Given the description of an element on the screen output the (x, y) to click on. 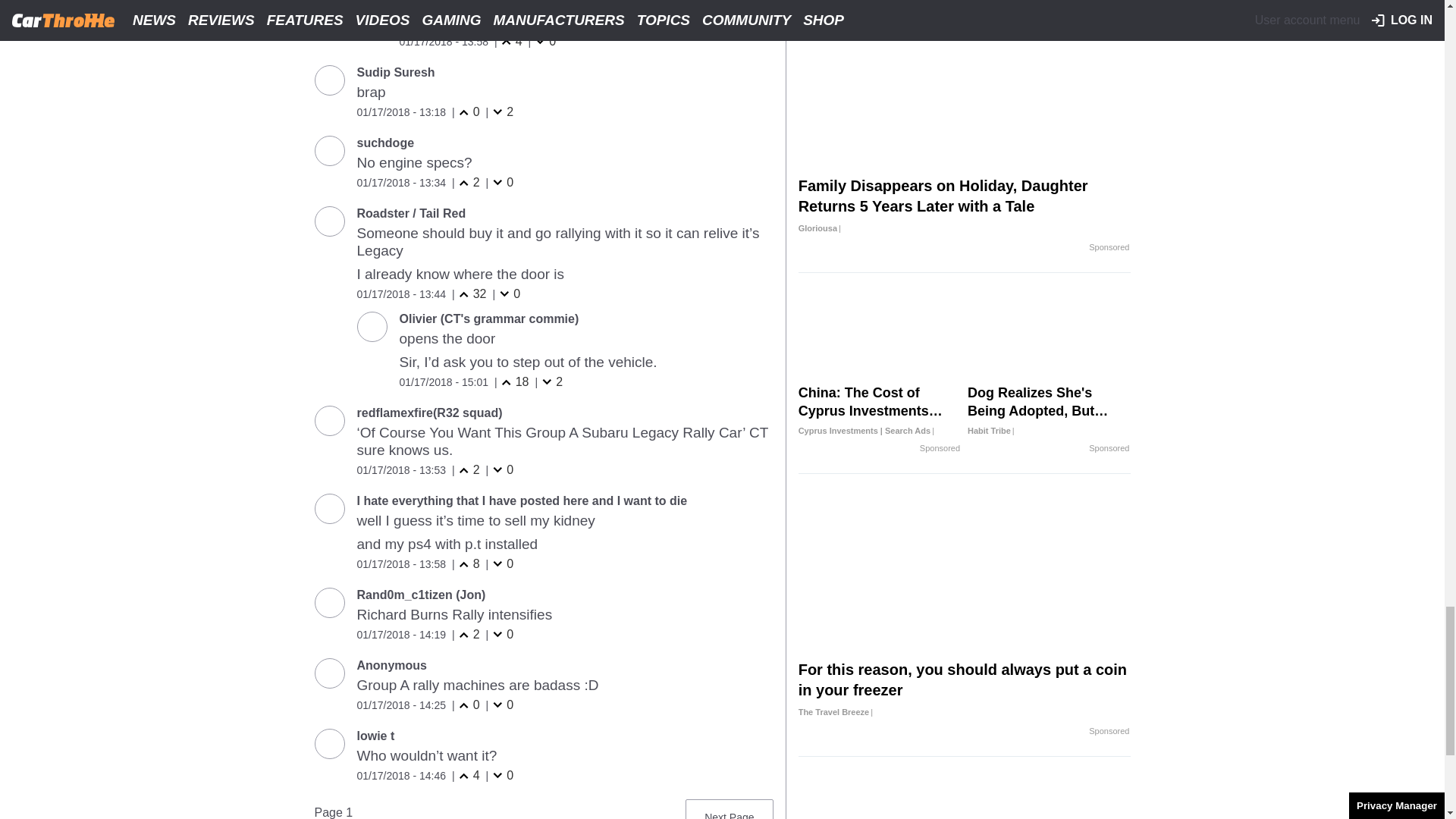
China: The Cost of Cyprus Investments Might Surprise You (878, 334)
Go to next page (729, 812)
China: The Cost of Cyprus Investments Might Surprise You (878, 411)
